Given the description of an element on the screen output the (x, y) to click on. 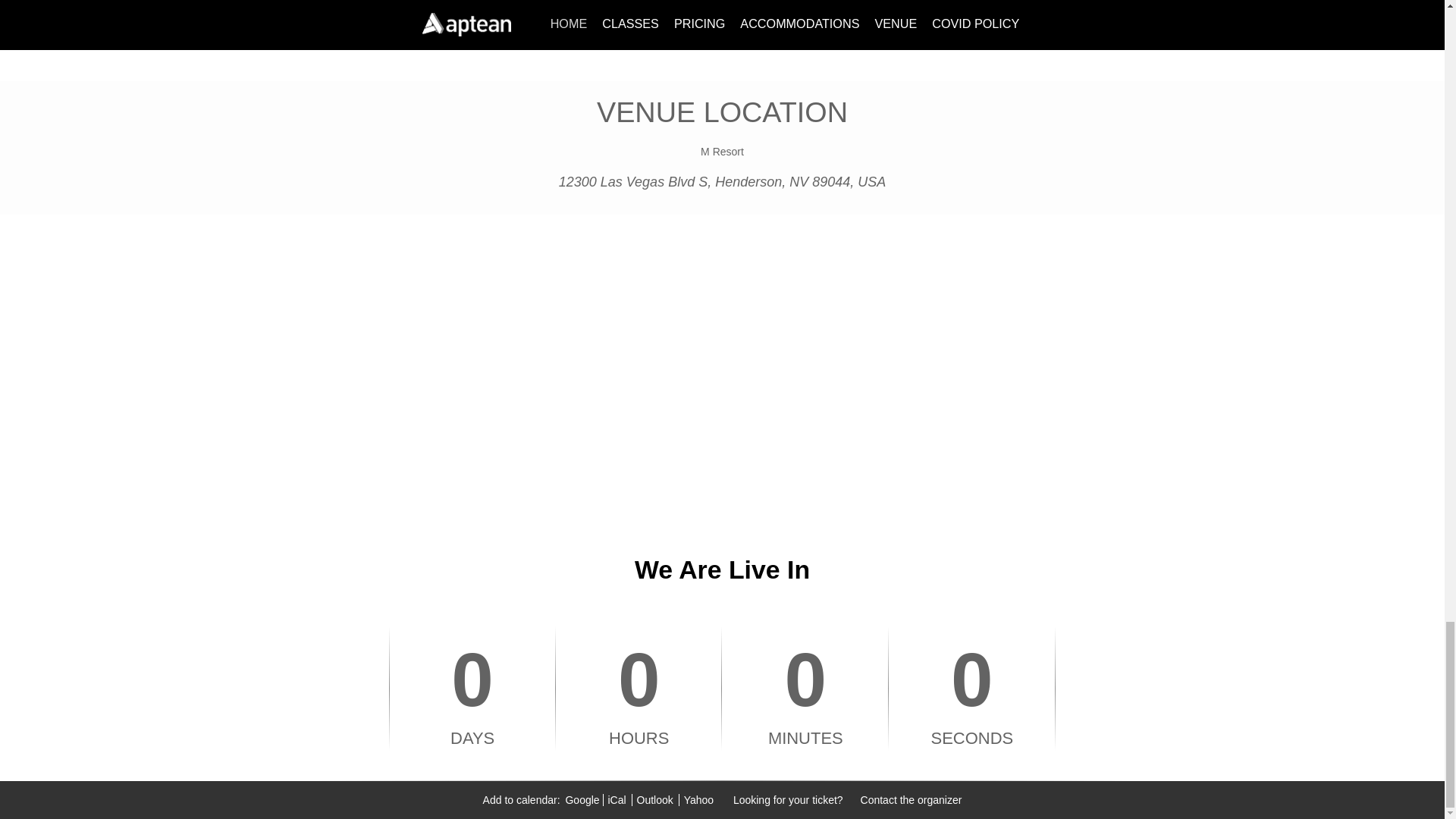
Looking for your ticket? (789, 799)
Yahoo (697, 799)
Outlook (654, 799)
Google (582, 799)
12300 Las Vegas Blvd S, Henderson, NV 89044, USA (722, 181)
SELECT YOUR PRODUCT TO START REGISTRATION (721, 40)
iCal (616, 799)
